Given the description of an element on the screen output the (x, y) to click on. 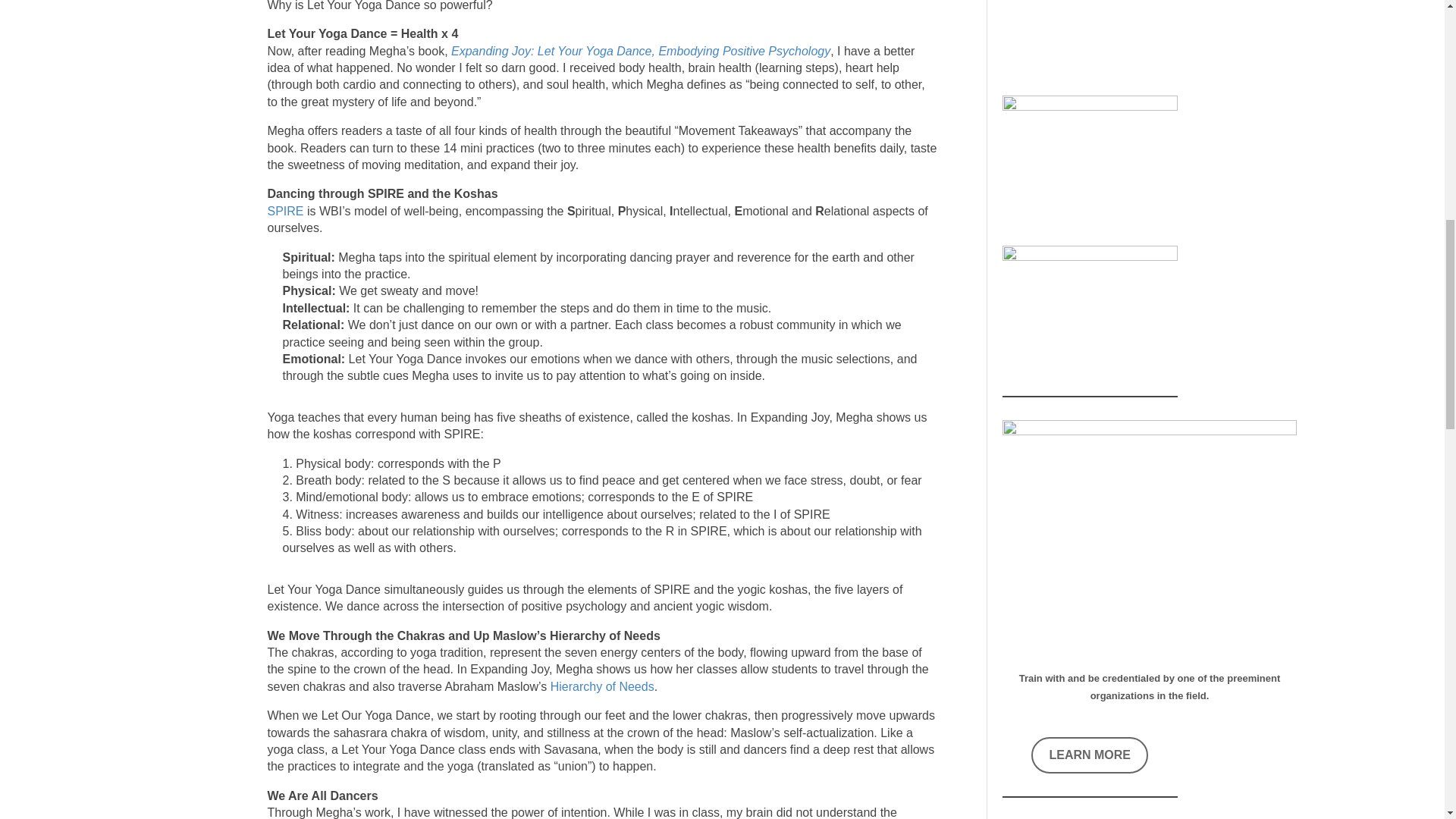
SPIRE (284, 210)
Hierarchy of Needs (601, 686)
LEARN MORE (1089, 755)
